Given the description of an element on the screen output the (x, y) to click on. 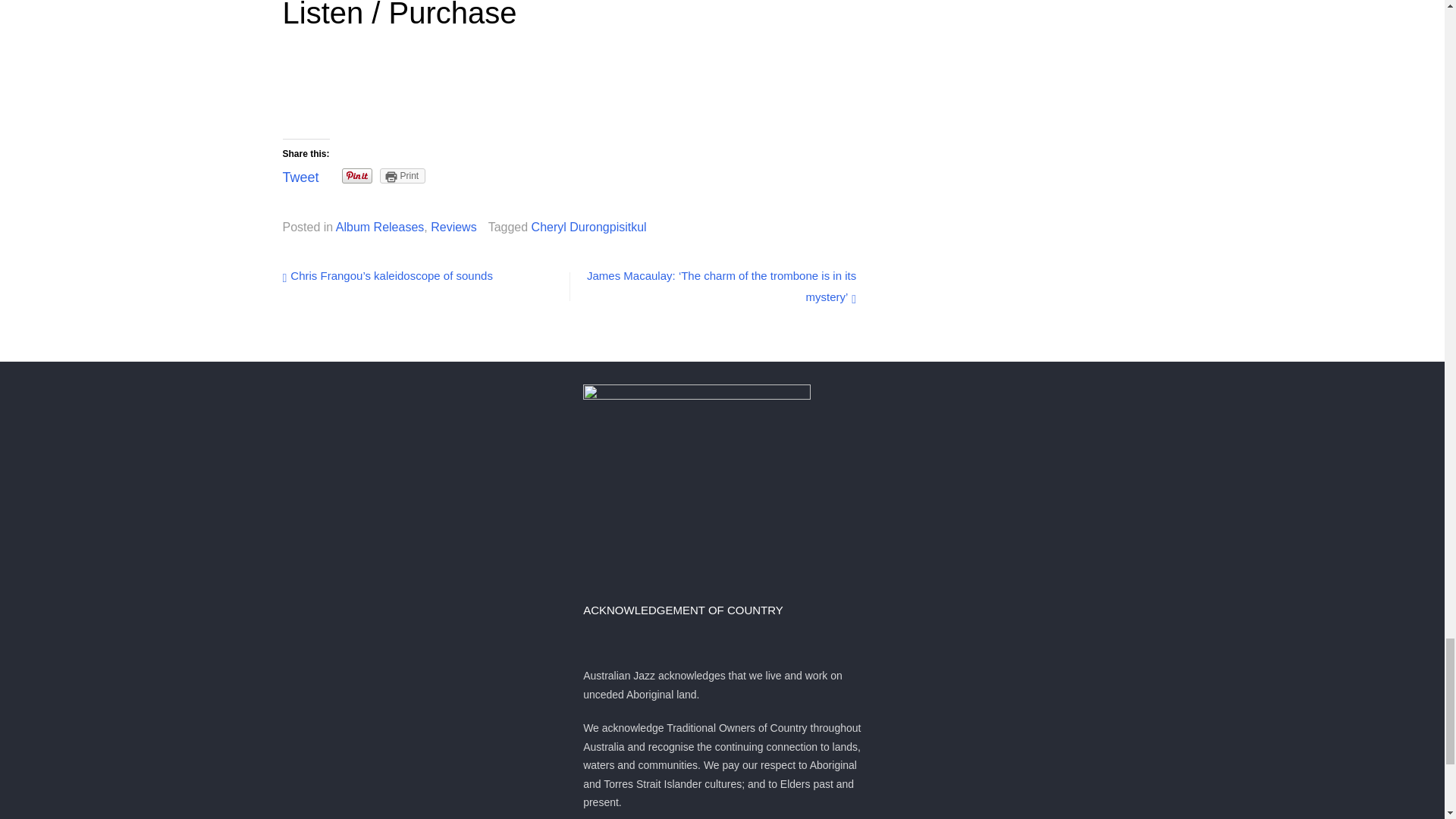
Click to print (403, 175)
